Given the description of an element on the screen output the (x, y) to click on. 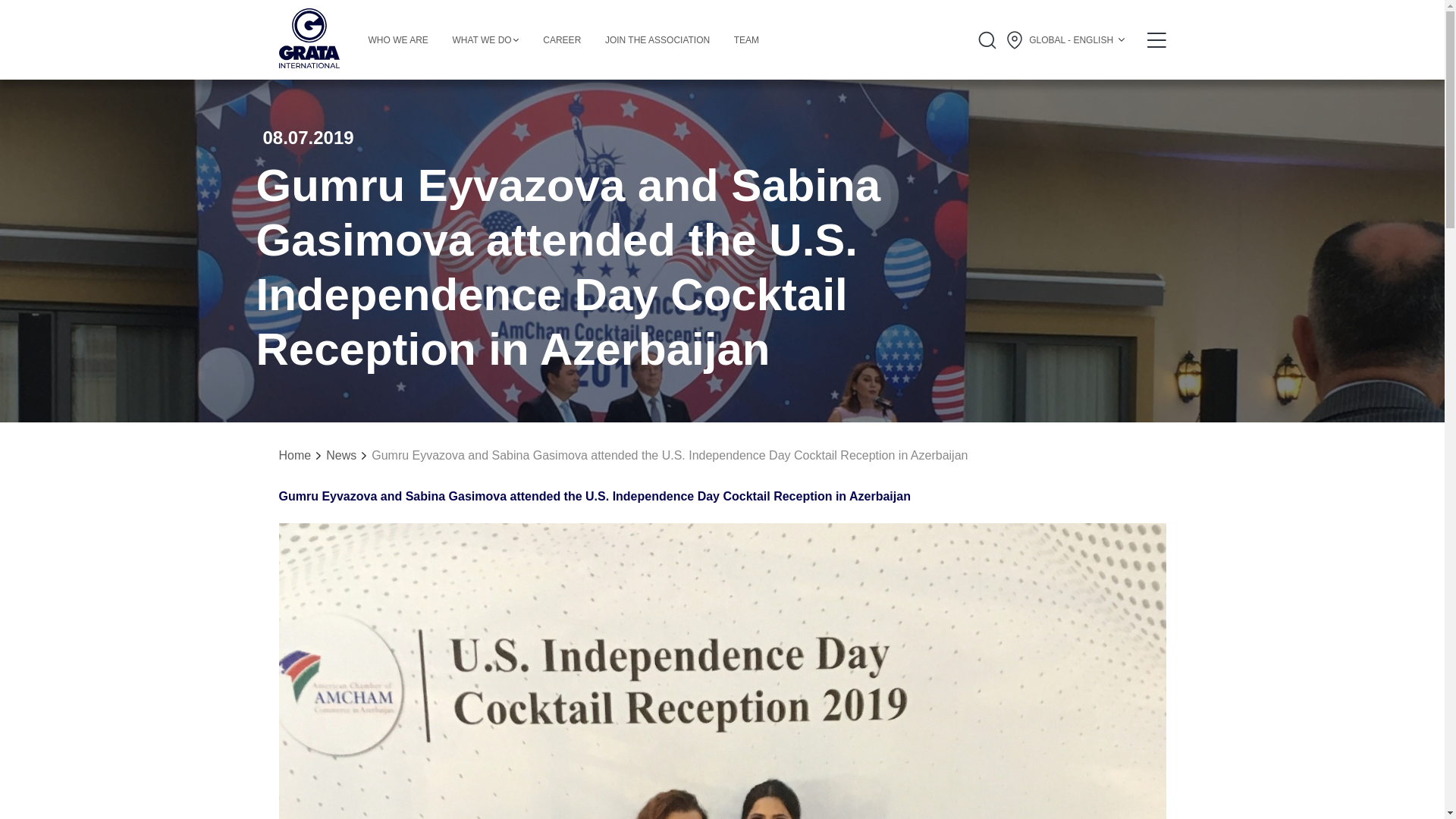
WHAT WE DO (484, 40)
WHO WE ARE (398, 40)
TEAM (745, 40)
JOIN THE ASSOCIATION (657, 40)
CAREER (561, 40)
